Given the description of an element on the screen output the (x, y) to click on. 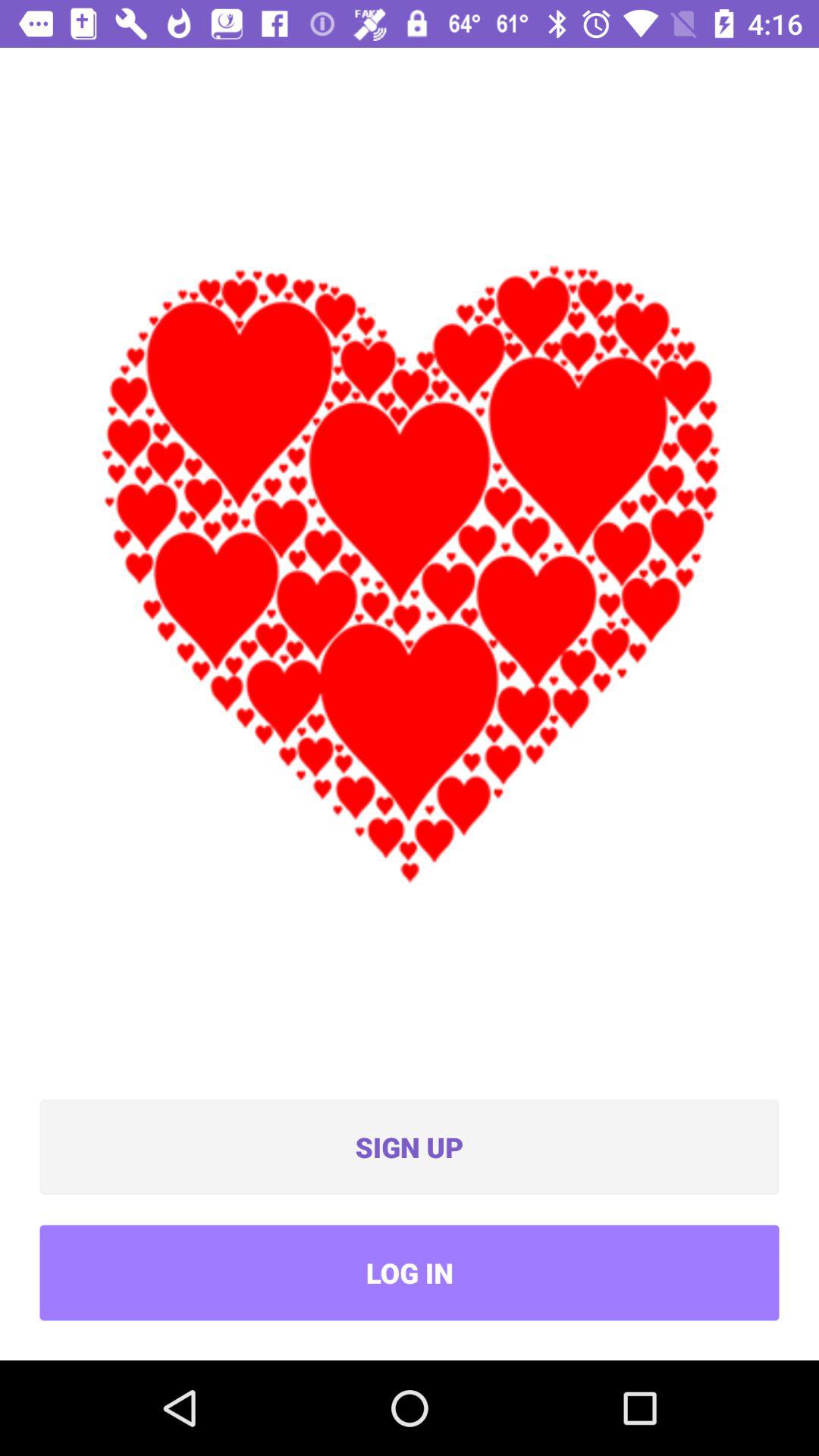
scroll until the log in item (409, 1272)
